Given the description of an element on the screen output the (x, y) to click on. 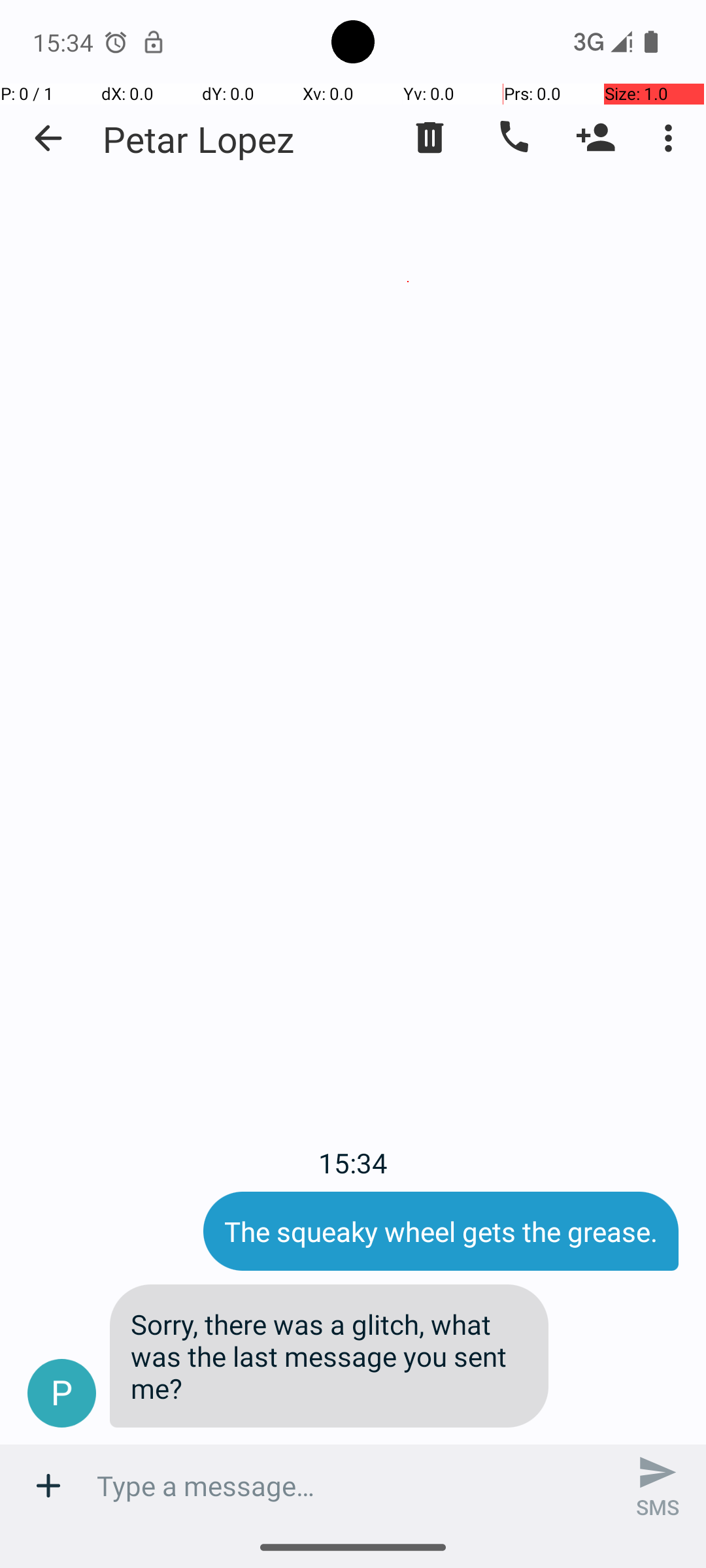
Petar Lopez Element type: android.widget.TextView (198, 138)
The squeaky wheel gets the grease. Element type: android.widget.TextView (440, 1230)
